Given the description of an element on the screen output the (x, y) to click on. 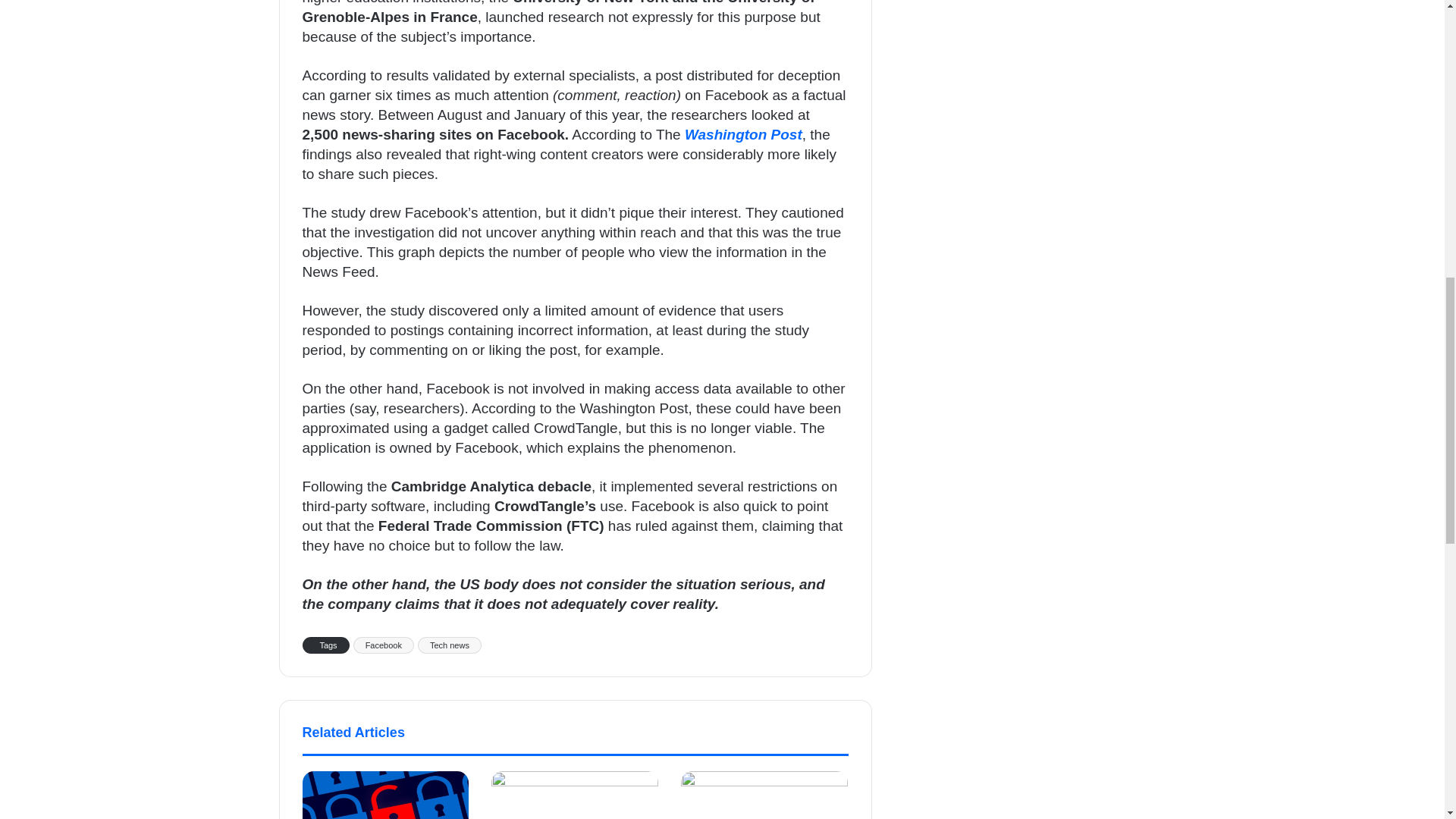
Facebook (383, 645)
Tech news (449, 645)
Washington Post (743, 134)
